Given the description of an element on the screen output the (x, y) to click on. 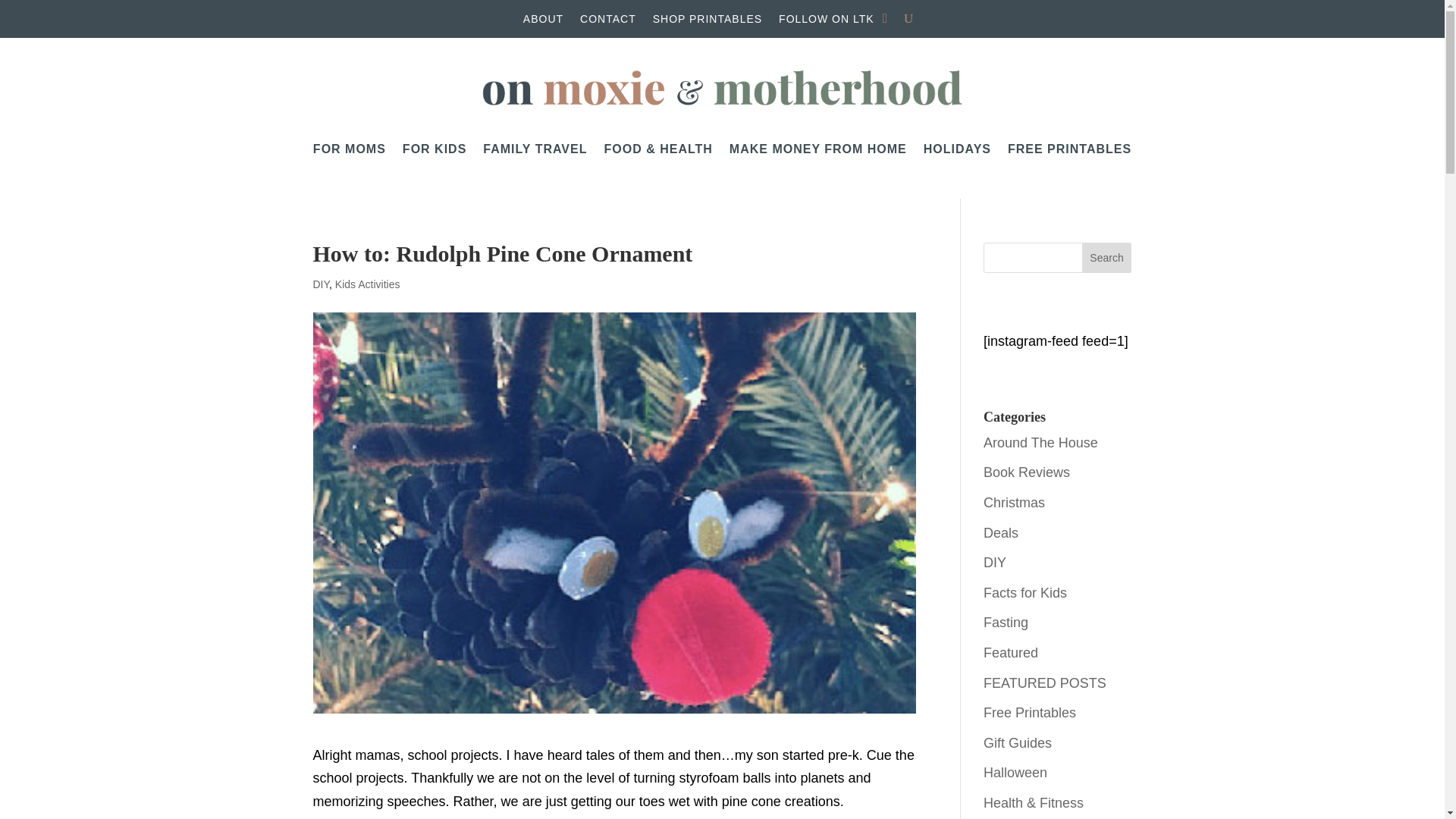
FREE PRINTABLES (1069, 149)
FOR KIDS (434, 149)
CONTACT (607, 21)
FOLLOW ON LTK (826, 21)
Kids Activities (367, 284)
SHOP PRINTABLES (706, 21)
FOR MOMS (349, 149)
HOLIDAYS (957, 149)
Search (1106, 257)
Search (1106, 257)
FAMILY TRAVEL (534, 149)
DIY (321, 284)
MAKE MONEY FROM HOME (818, 149)
ABOUT (542, 21)
